Given the description of an element on the screen output the (x, y) to click on. 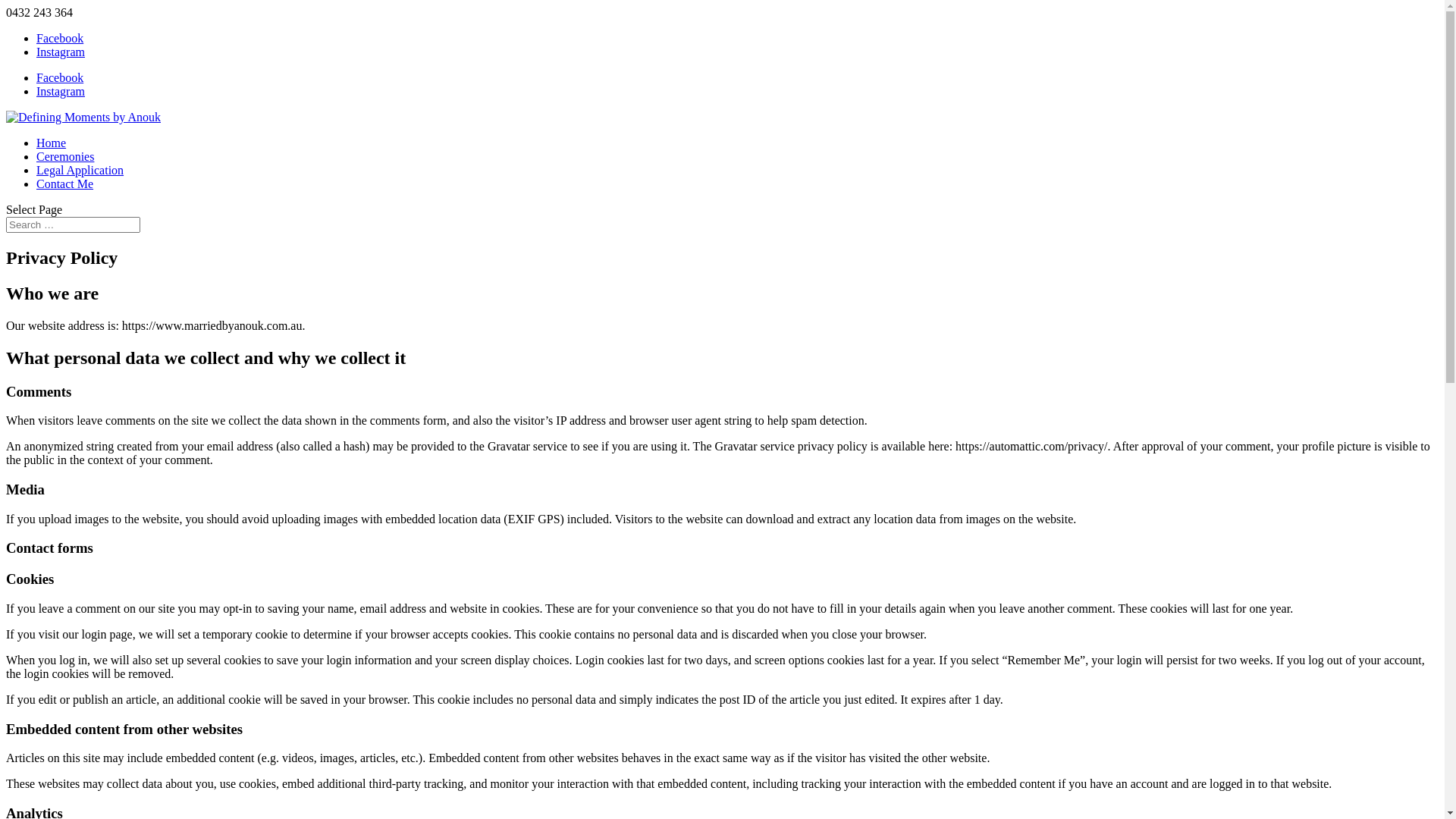
Legal Application Element type: text (79, 169)
Contact Me Element type: text (64, 183)
Ceremonies Element type: text (65, 156)
Instagram Element type: text (60, 90)
Instagram Element type: text (60, 51)
Facebook Element type: text (59, 77)
Search for: Element type: hover (73, 224)
Facebook Element type: text (59, 37)
Home Element type: text (50, 142)
